Given the description of an element on the screen output the (x, y) to click on. 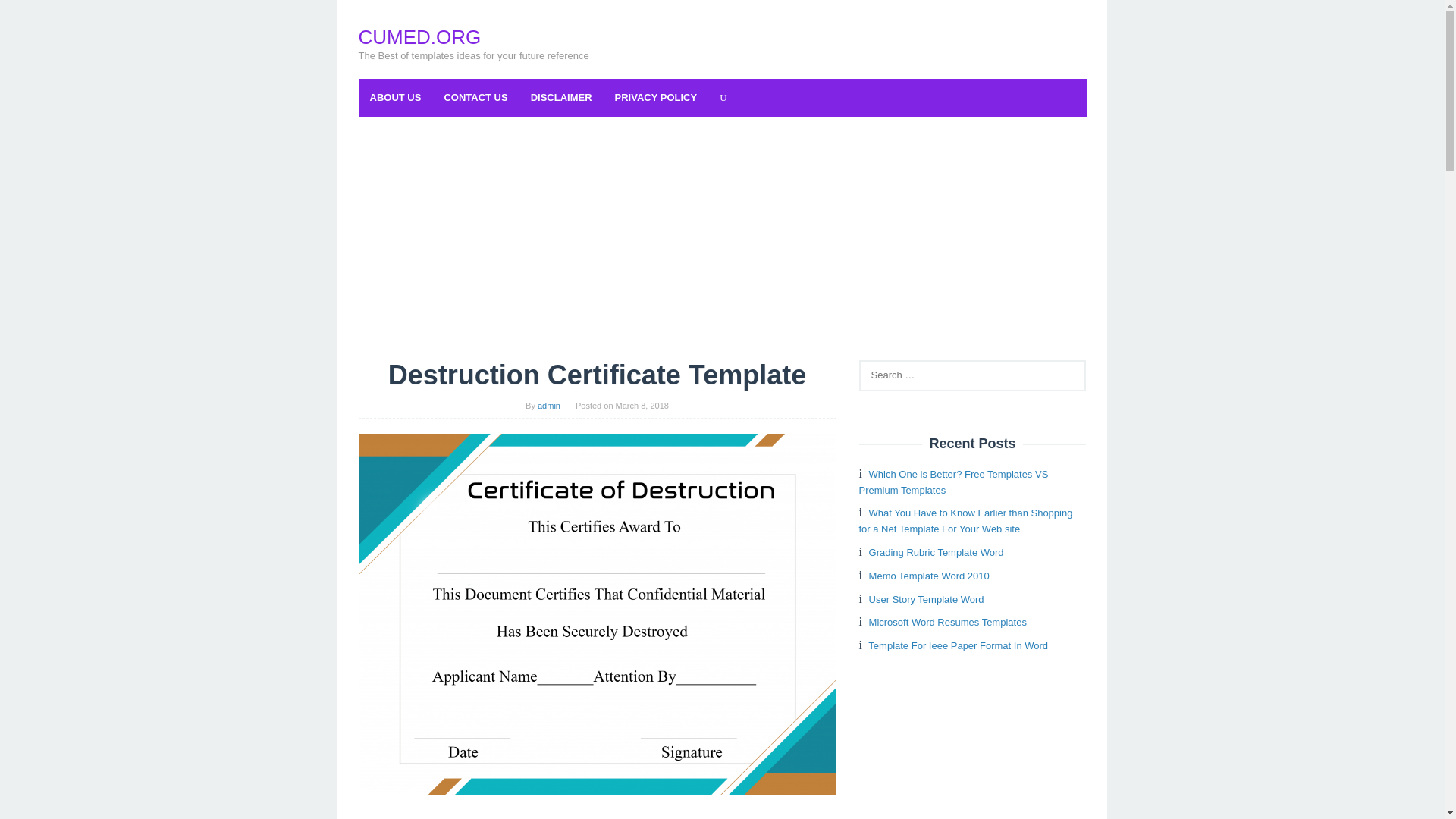
Permalink to: admin (548, 405)
admin (548, 405)
CONTACT US (475, 97)
CUMED.ORG (419, 36)
Grading Rubric Template Word (936, 552)
DISCLAIMER (561, 97)
PRIVACY POLICY (656, 97)
ABOUT US (395, 97)
CUMED.ORG (419, 36)
Search (27, 15)
Advertisement (596, 812)
Memo Template Word 2010 (929, 575)
